Given the description of an element on the screen output the (x, y) to click on. 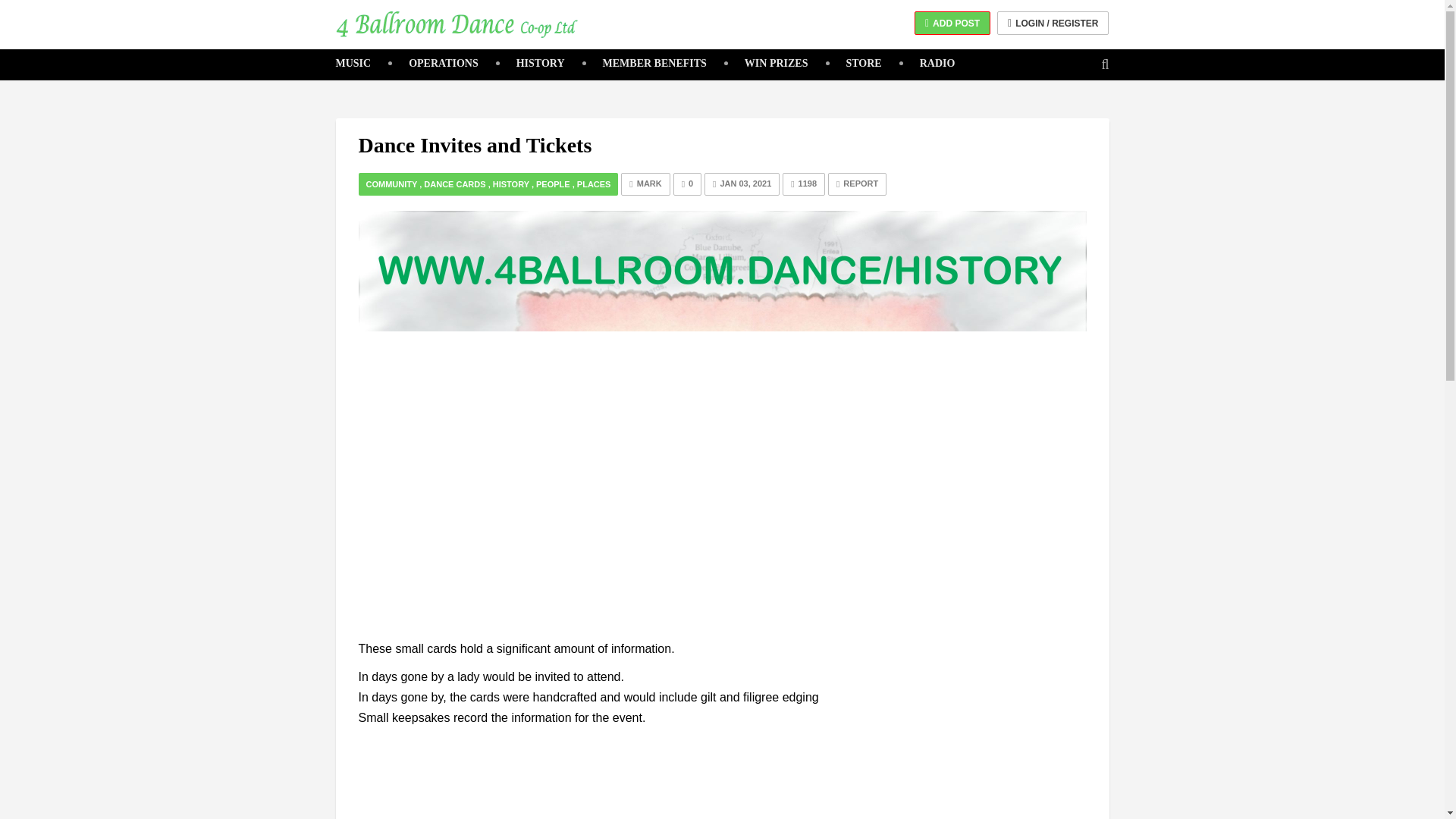
MUSIC (352, 63)
STORE (853, 63)
PEOPLE (552, 184)
COMMUNITY (390, 184)
OPERATIONS (434, 63)
MEMBER BENEFITS (644, 63)
JAN 03, 2021 (741, 183)
HISTORY (530, 63)
ADD POST (952, 23)
PLACES (593, 184)
0 (686, 183)
RADIO (928, 63)
DANCE CARDS (453, 184)
WIN PRIZES (766, 63)
HISTORY (511, 184)
